Given the description of an element on the screen output the (x, y) to click on. 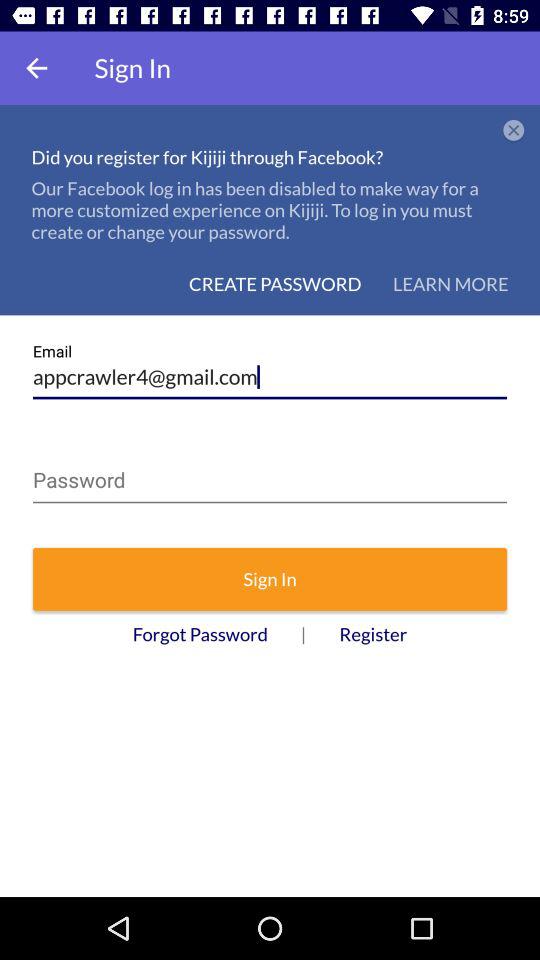
click the item to the right of create password icon (450, 283)
